Given the description of an element on the screen output the (x, y) to click on. 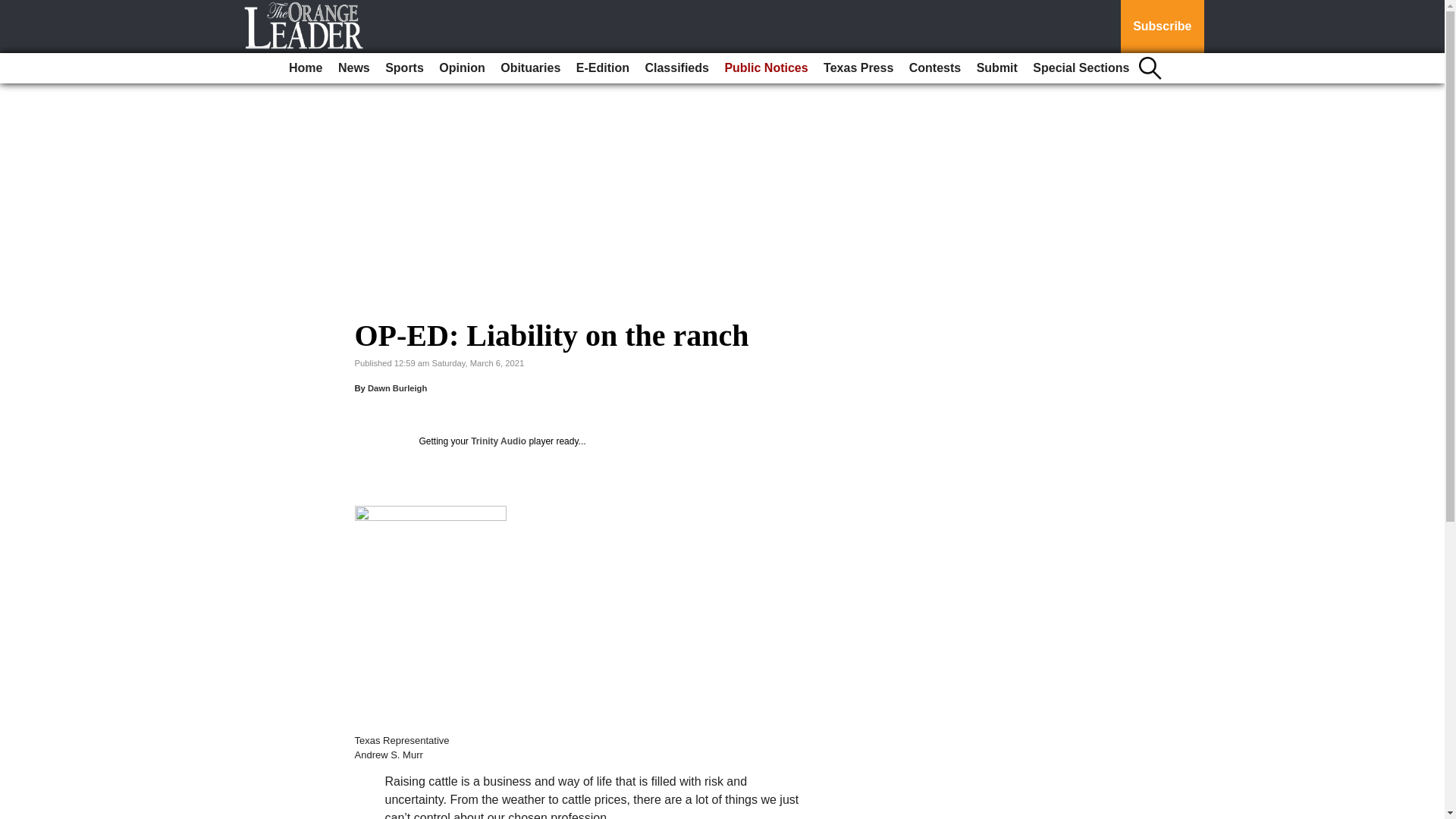
Obituaries (530, 68)
Trinity Audio (497, 440)
Classifieds (676, 68)
Contests (934, 68)
Home (305, 68)
Public Notices (765, 68)
News (353, 68)
Special Sections (1080, 68)
Sports (403, 68)
Submit (997, 68)
